Given the description of an element on the screen output the (x, y) to click on. 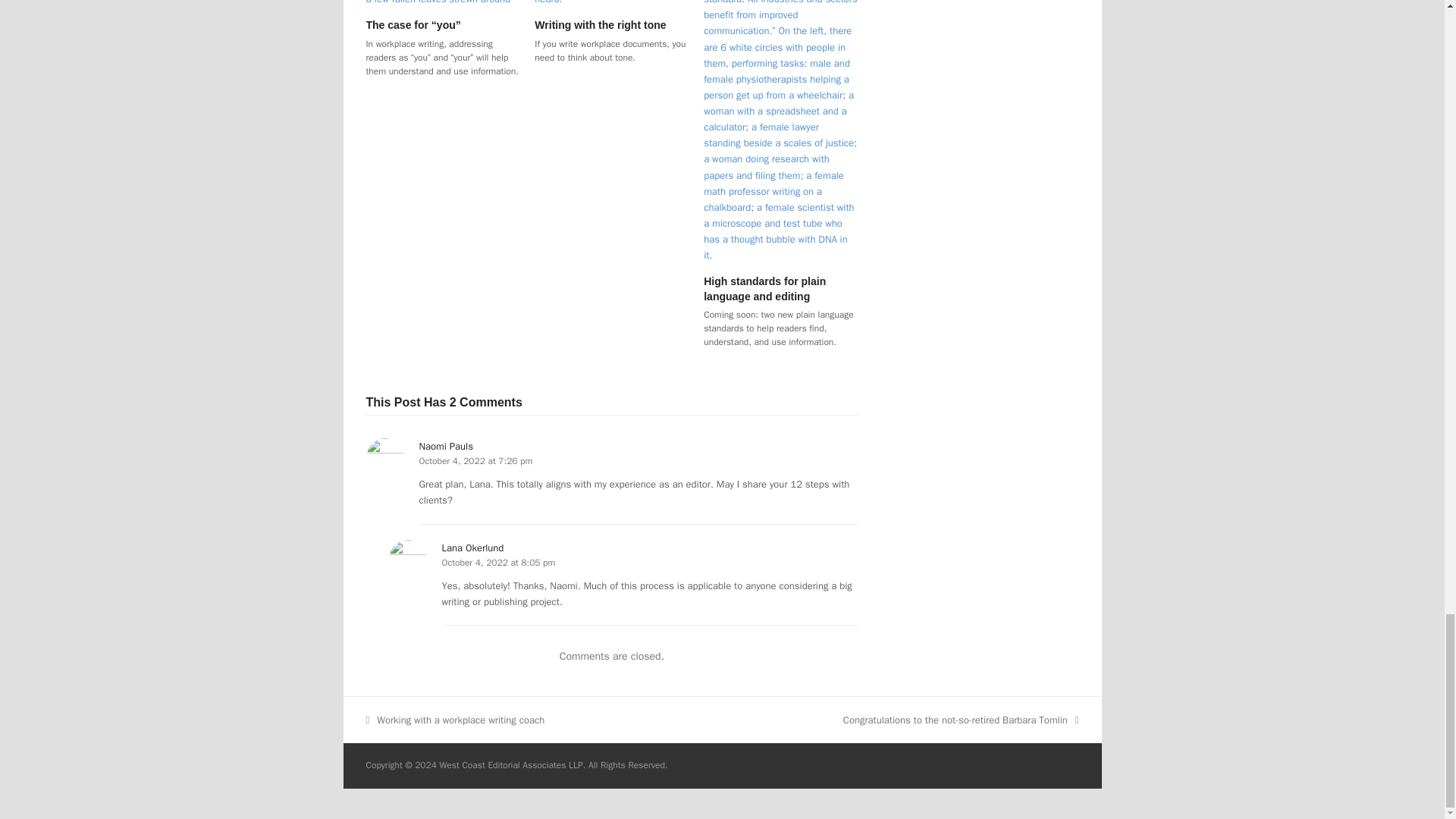
Writing with the right tone (599, 24)
Lana Okerlund (472, 547)
Naomi Pauls (445, 445)
October 4, 2022 at 7:26 pm (475, 460)
High standards for plain language and editing (764, 288)
High standards for plain language and editing (780, 110)
